Given the description of an element on the screen output the (x, y) to click on. 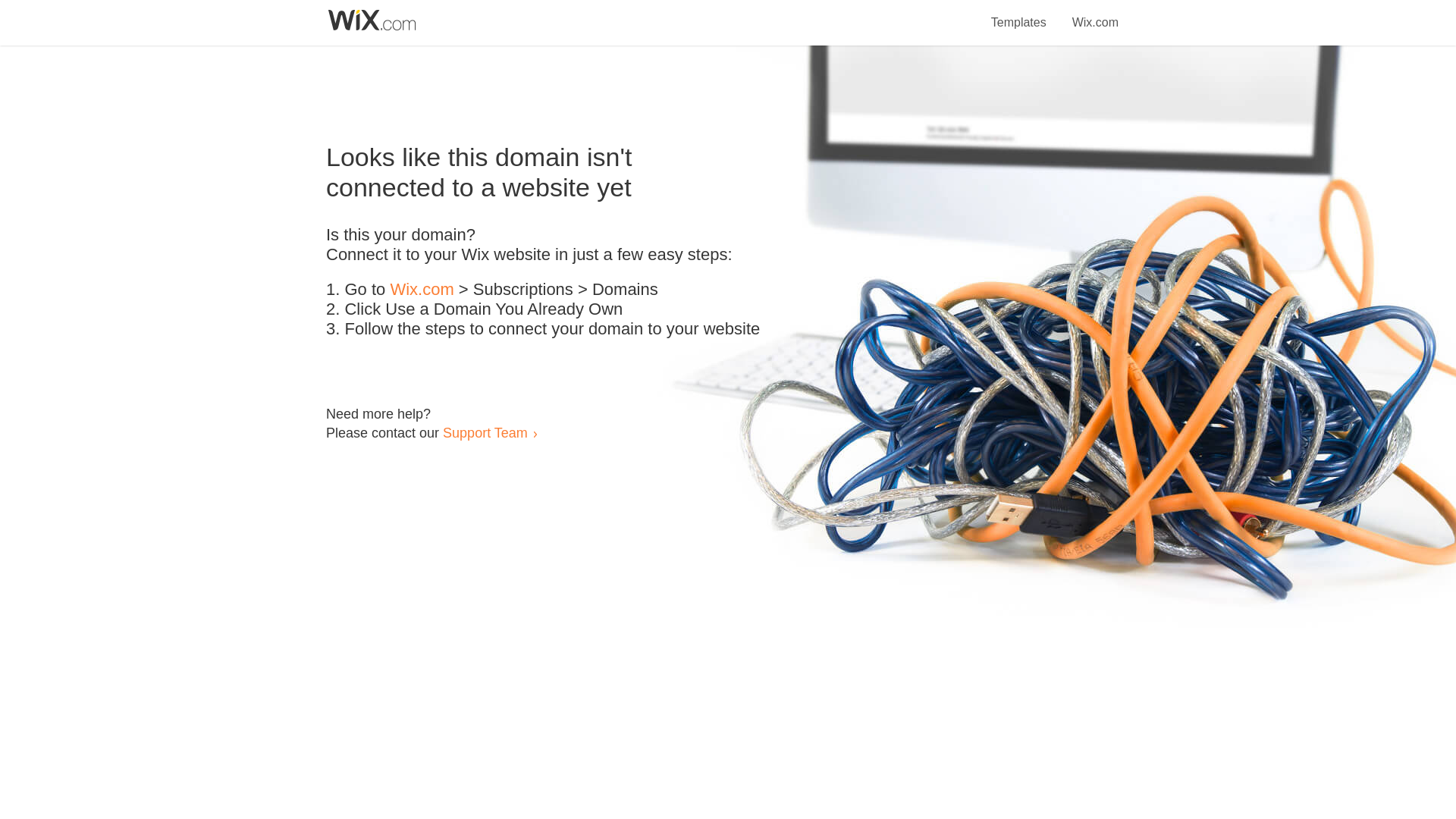
Templates (1018, 14)
Support Team (484, 432)
Wix.com (1095, 14)
Wix.com (421, 289)
